Given the description of an element on the screen output the (x, y) to click on. 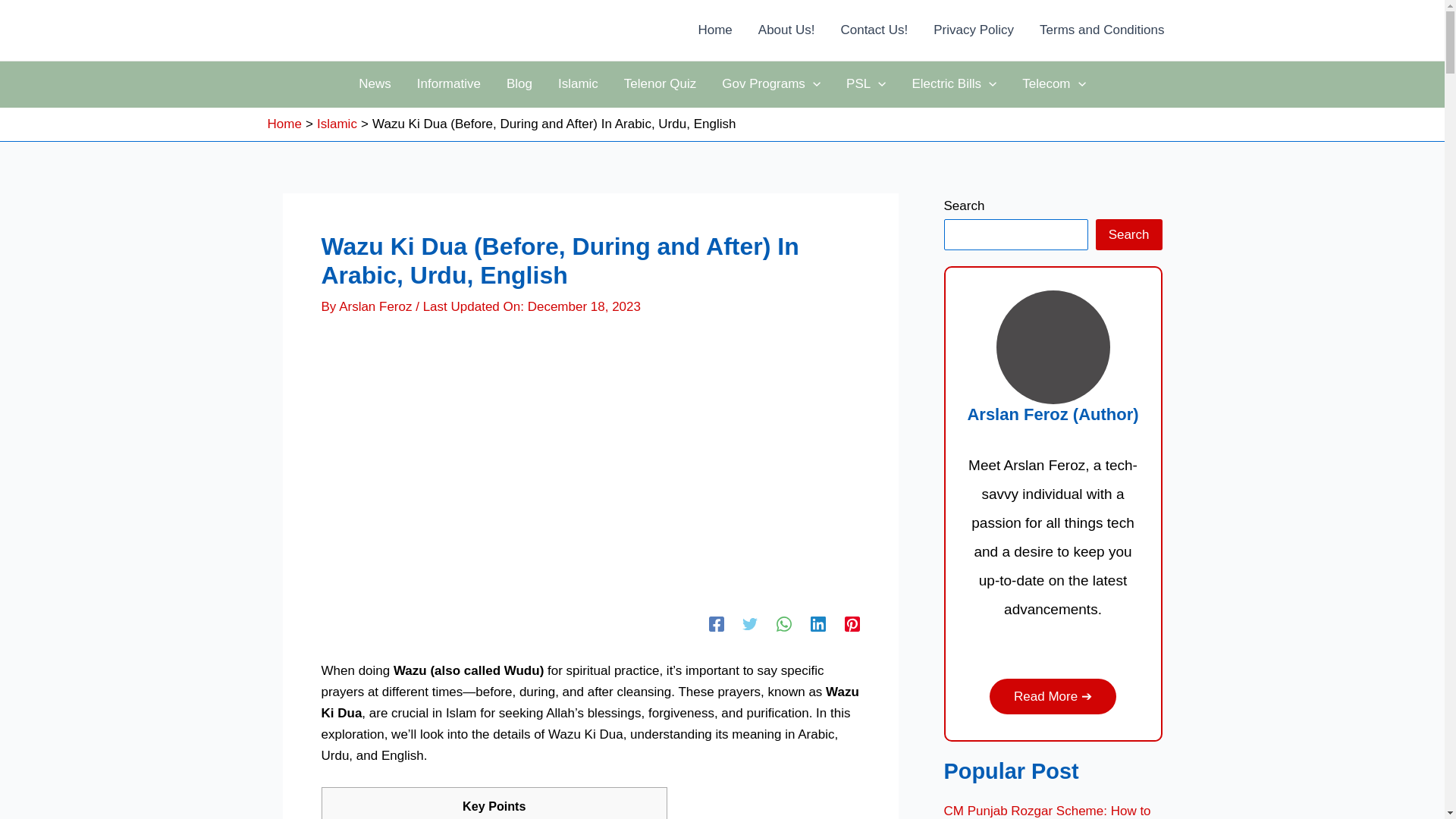
Telecom (1054, 84)
Islamic (577, 84)
Gov Programs (770, 84)
Terms and Conditions (1101, 30)
Privacy Policy (973, 30)
Blog (518, 84)
Telenor Quiz (660, 84)
About Us! (786, 30)
Home (714, 30)
Electric Bills (953, 84)
